Given the description of an element on the screen output the (x, y) to click on. 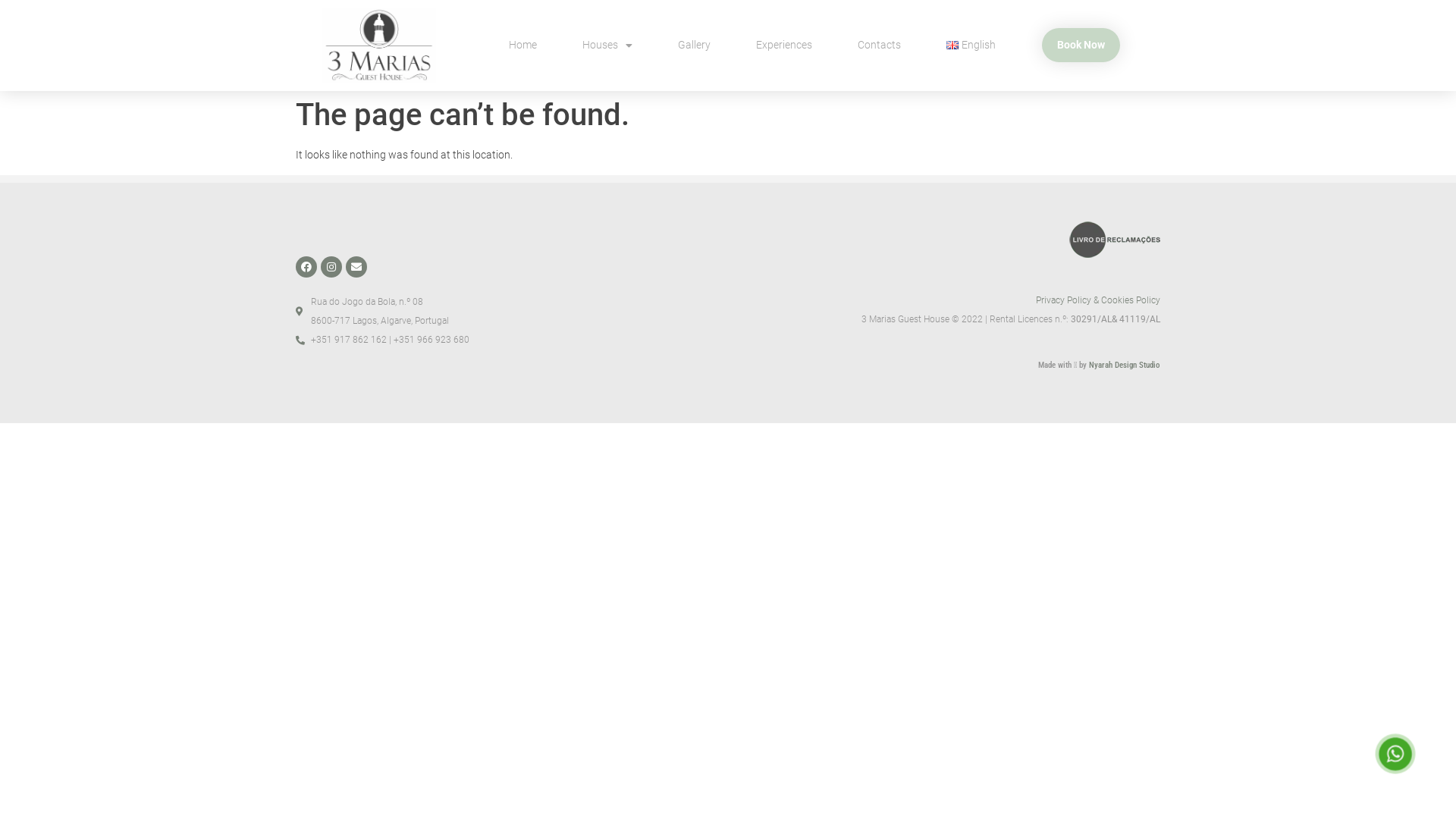
Privacy Policy & Cookies Policy Element type: text (1097, 299)
Experiences Element type: text (783, 44)
Home Element type: text (522, 44)
Nyarah Design Studio Element type: text (1124, 365)
Houses Element type: text (607, 44)
English Element type: text (970, 44)
Contacts Element type: text (878, 44)
Book Now Element type: text (1080, 45)
Gallery Element type: text (694, 44)
